Given the description of an element on the screen output the (x, y) to click on. 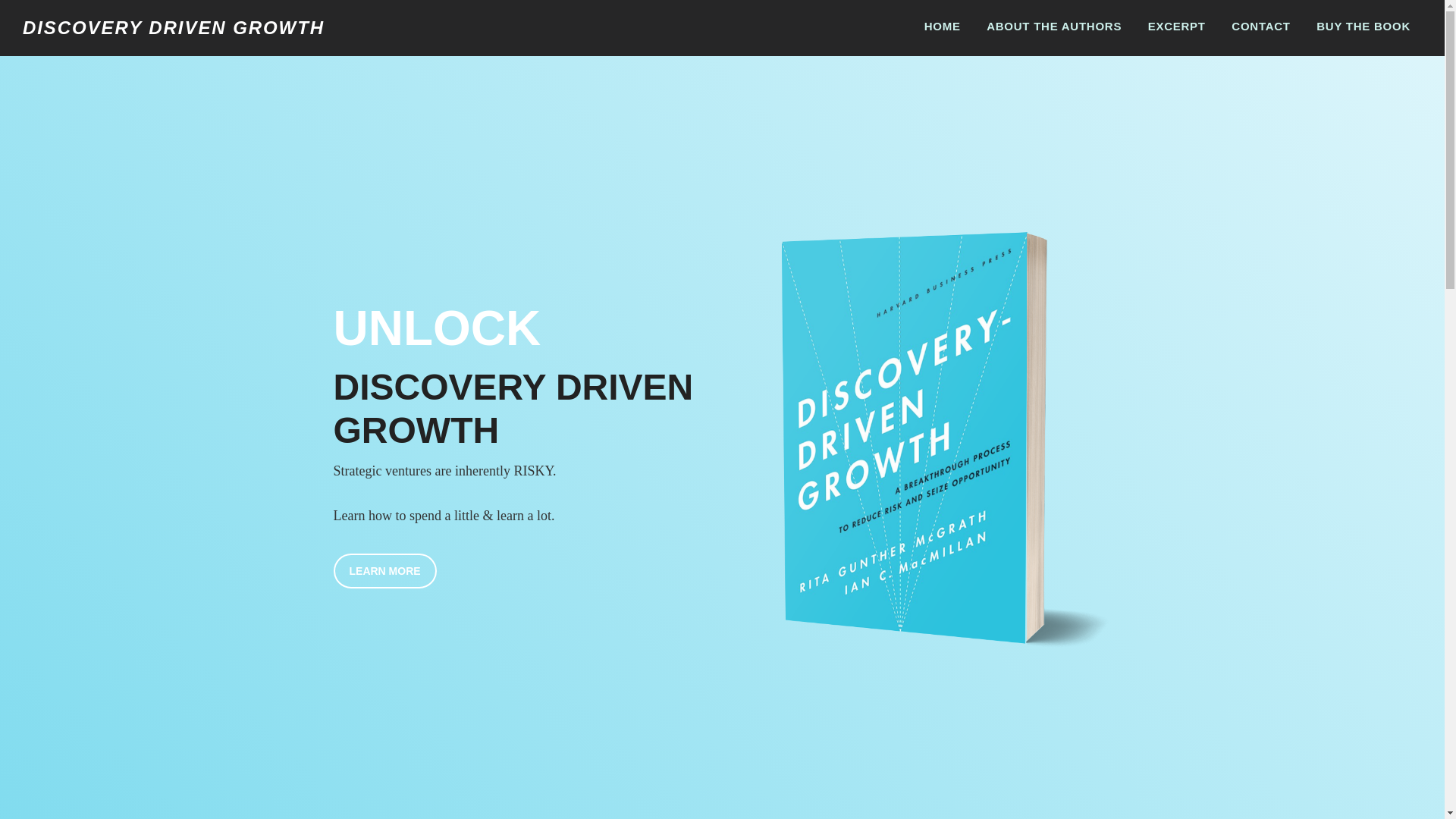
ABOUT THE AUTHORS (1053, 25)
BUY THE BOOK (1363, 25)
HOME (942, 25)
EXCERPT (1177, 25)
LEARN MORE (384, 570)
DISCOVERY DRIVEN GROWTH (173, 27)
CONTACT (1260, 25)
